Given the description of an element on the screen output the (x, y) to click on. 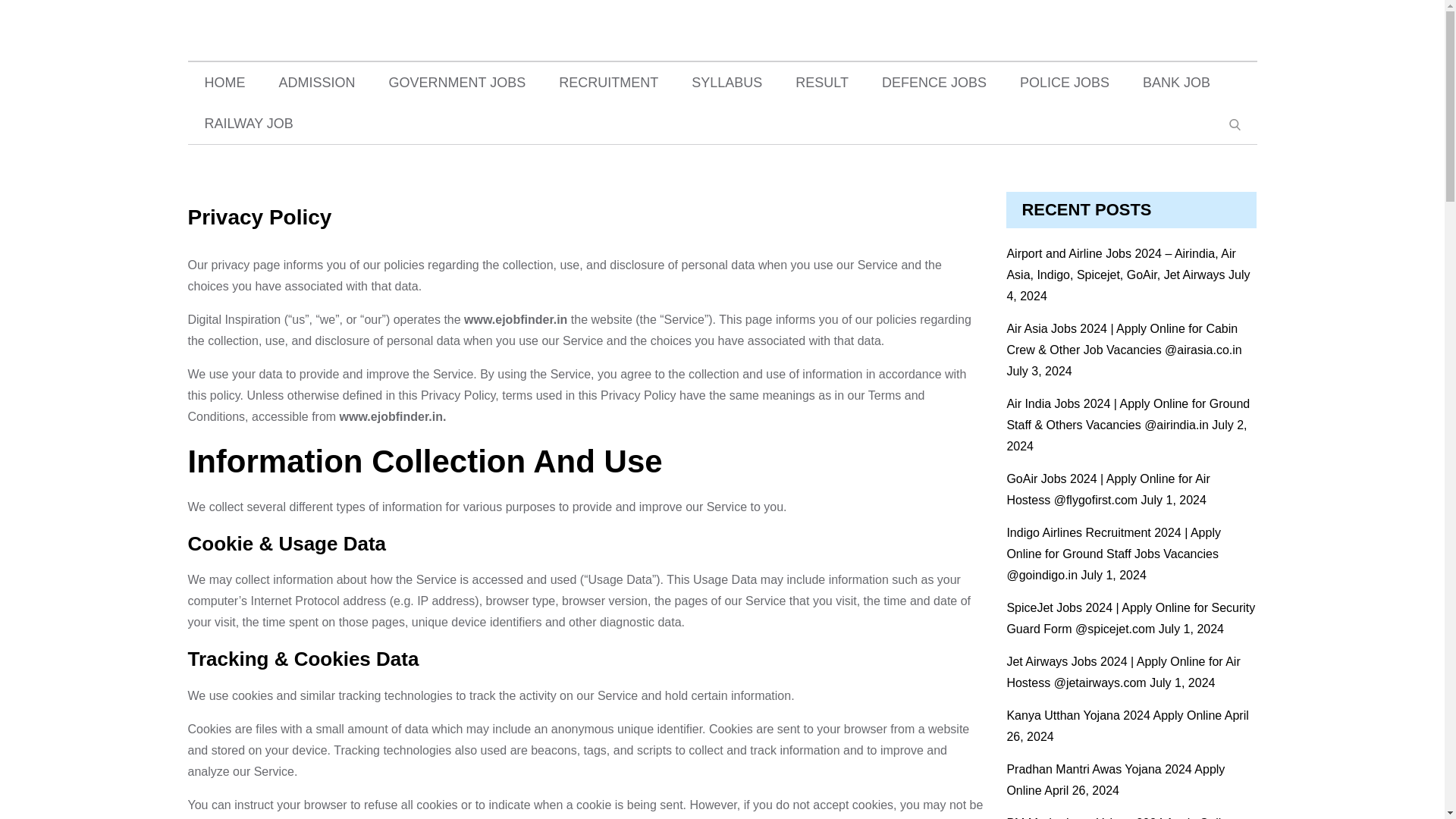
POLICE JOBS (1064, 82)
GOVERNMENT JOBS (457, 82)
SYLLABUS (726, 82)
Kanya Utthan Yojana 2024 Apply Online (1113, 715)
RESULT (821, 82)
EJOBFINDER (644, 49)
BANK JOB (1176, 82)
RECRUITMENT (608, 82)
DEFENCE JOBS (933, 82)
